Given the description of an element on the screen output the (x, y) to click on. 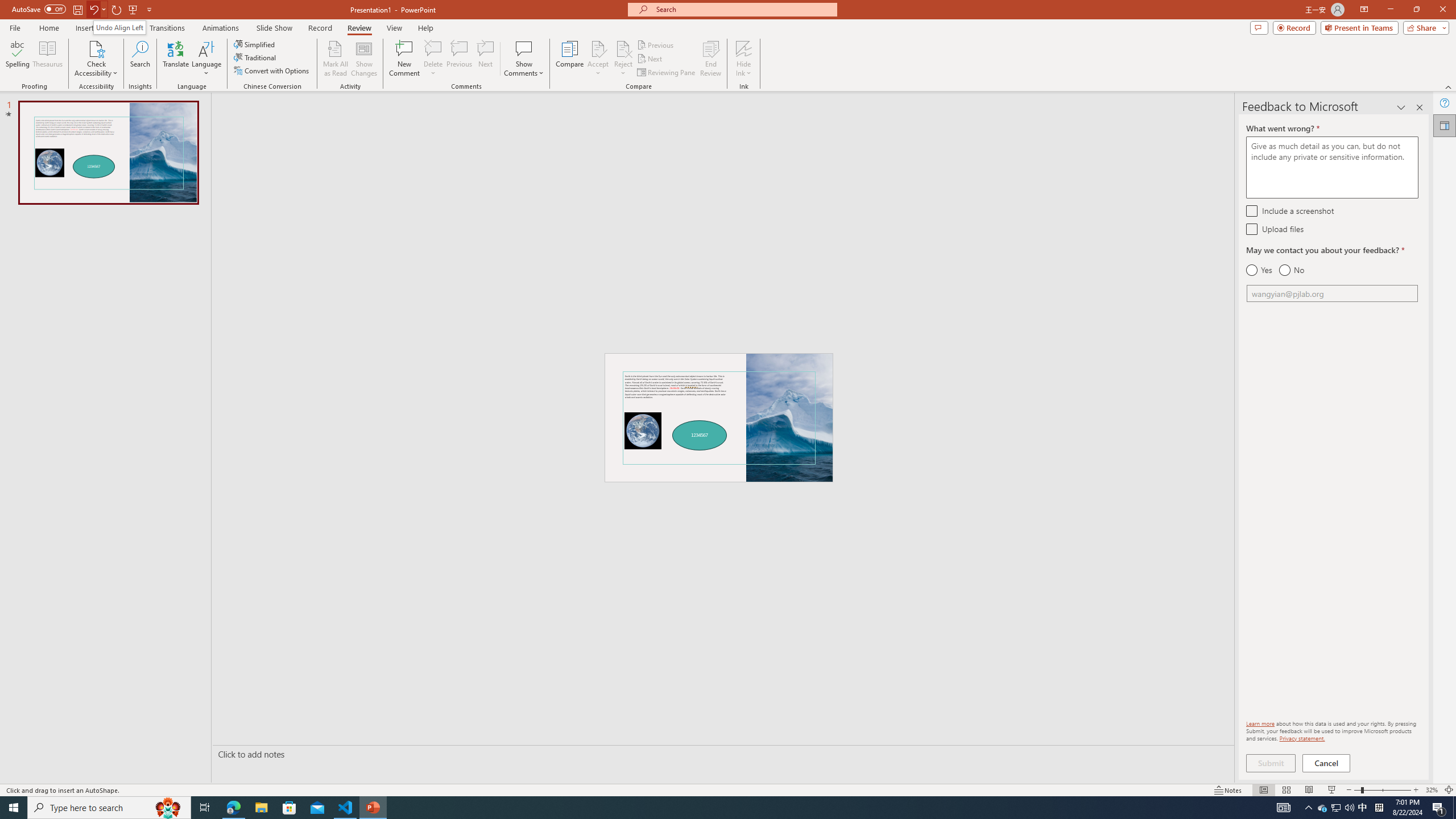
Traditional (255, 56)
Cancel (1327, 763)
Show Changes (363, 58)
Accept Change (598, 48)
Upload files (1251, 228)
Convert with Options... (272, 69)
